Given the description of an element on the screen output the (x, y) to click on. 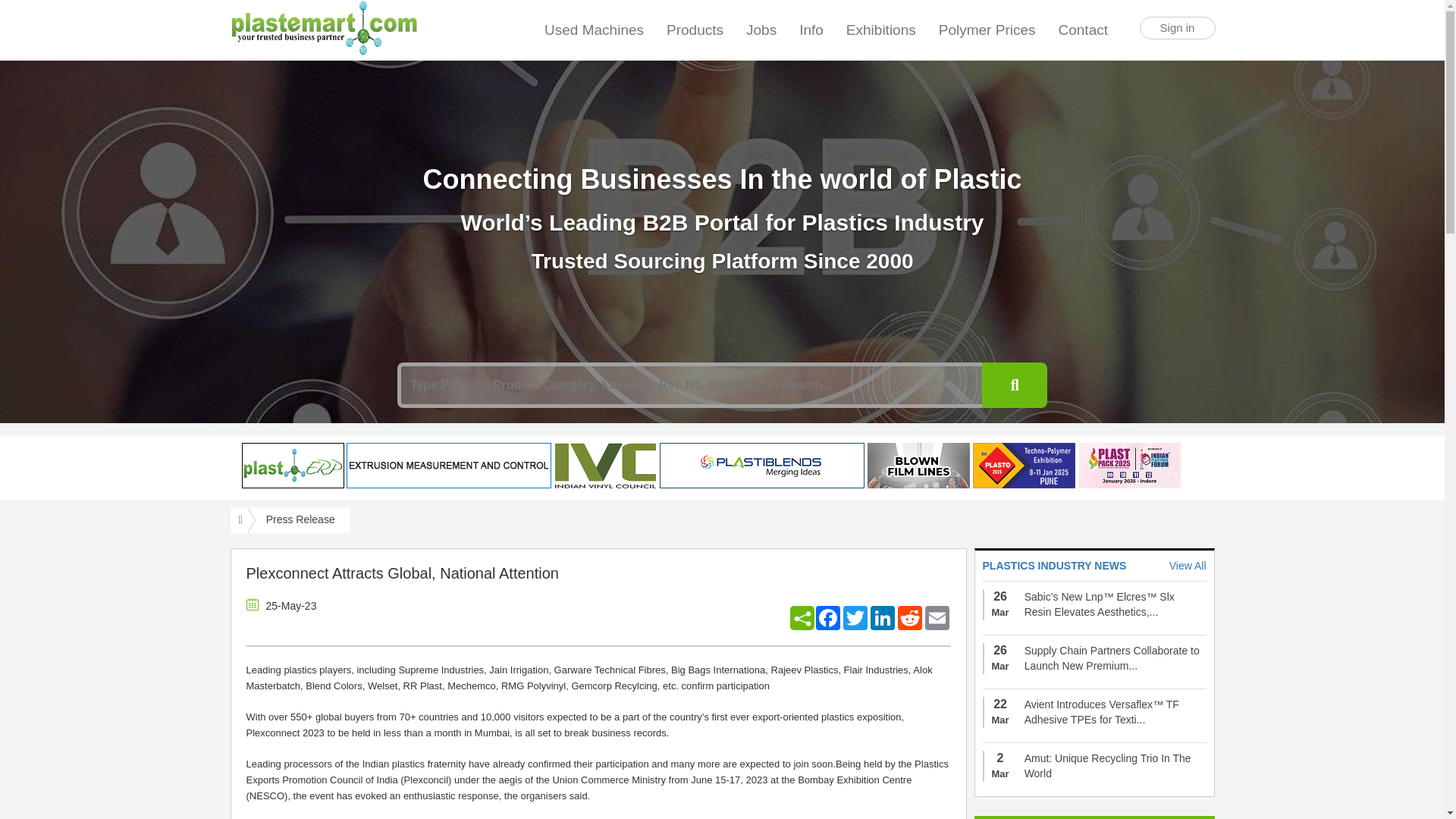
Sign in (1176, 27)
Contact Us (1084, 22)
PVC Polymer prices (986, 30)
Products (695, 30)
Used Machines (593, 30)
Used Plastic Machines (593, 30)
Plastic Machine Exhibitions (880, 30)
Manufacturer and supplier of plastic products (695, 30)
Exhibitions (880, 30)
Contact (1084, 22)
Polymer Prices (986, 30)
